Given the description of an element on the screen output the (x, y) to click on. 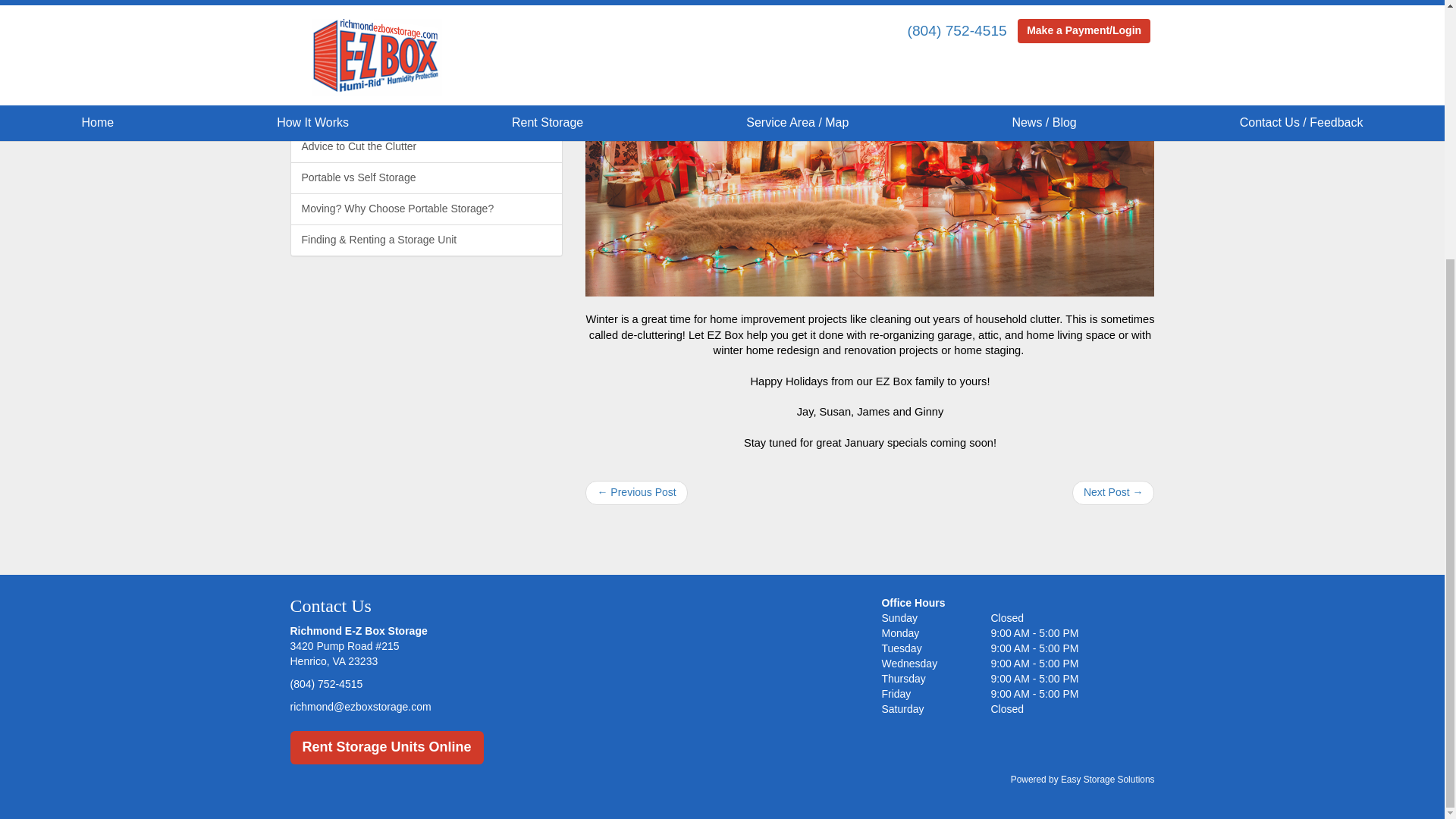
Moving? Why Choose Portable Storage? (426, 209)
Portable vs Self Storage (426, 178)
Advice to Cut the Clutter (426, 146)
